Given the description of an element on the screen output the (x, y) to click on. 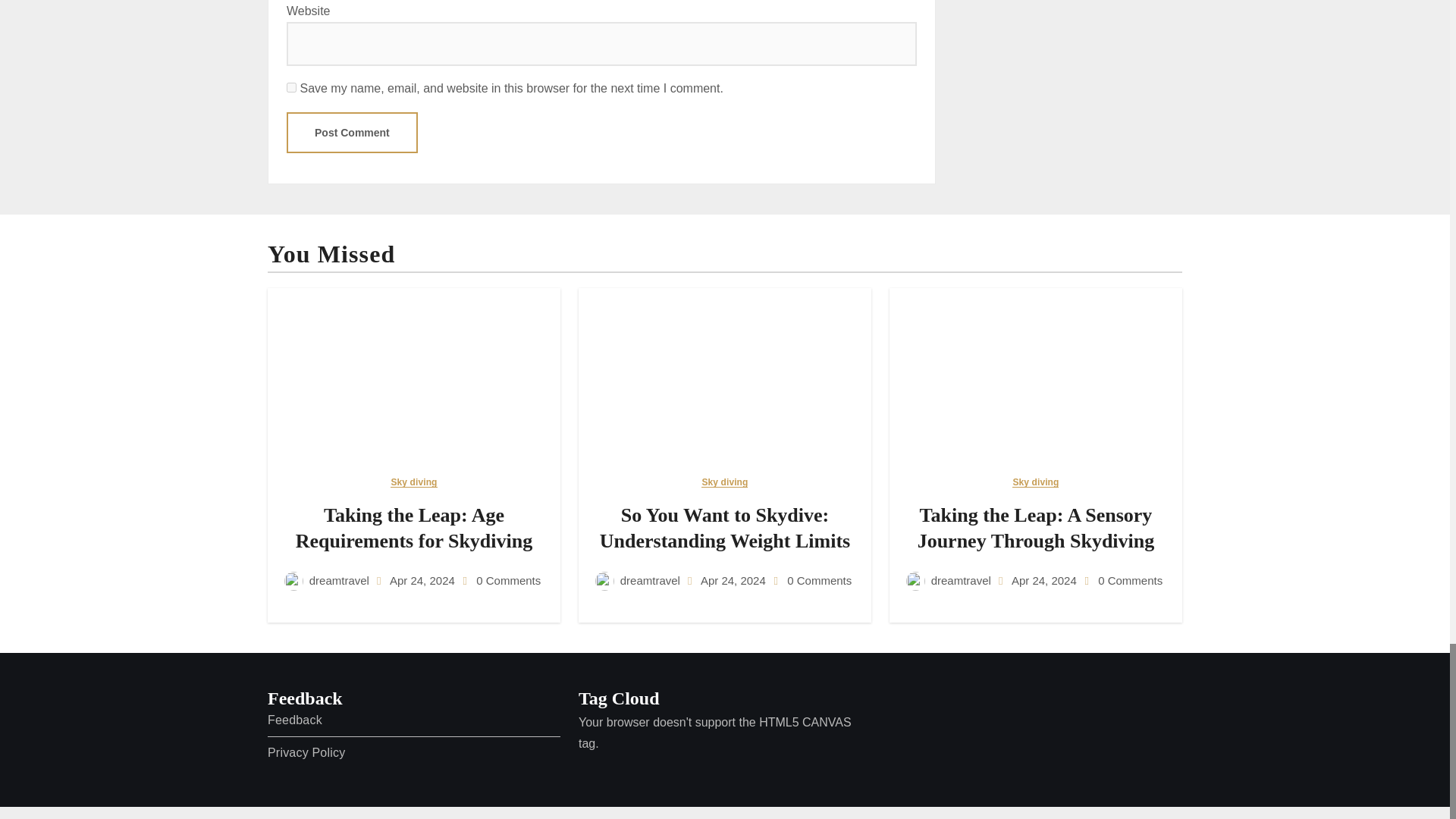
yes (291, 87)
Post Comment (351, 132)
